Given the description of an element on the screen output the (x, y) to click on. 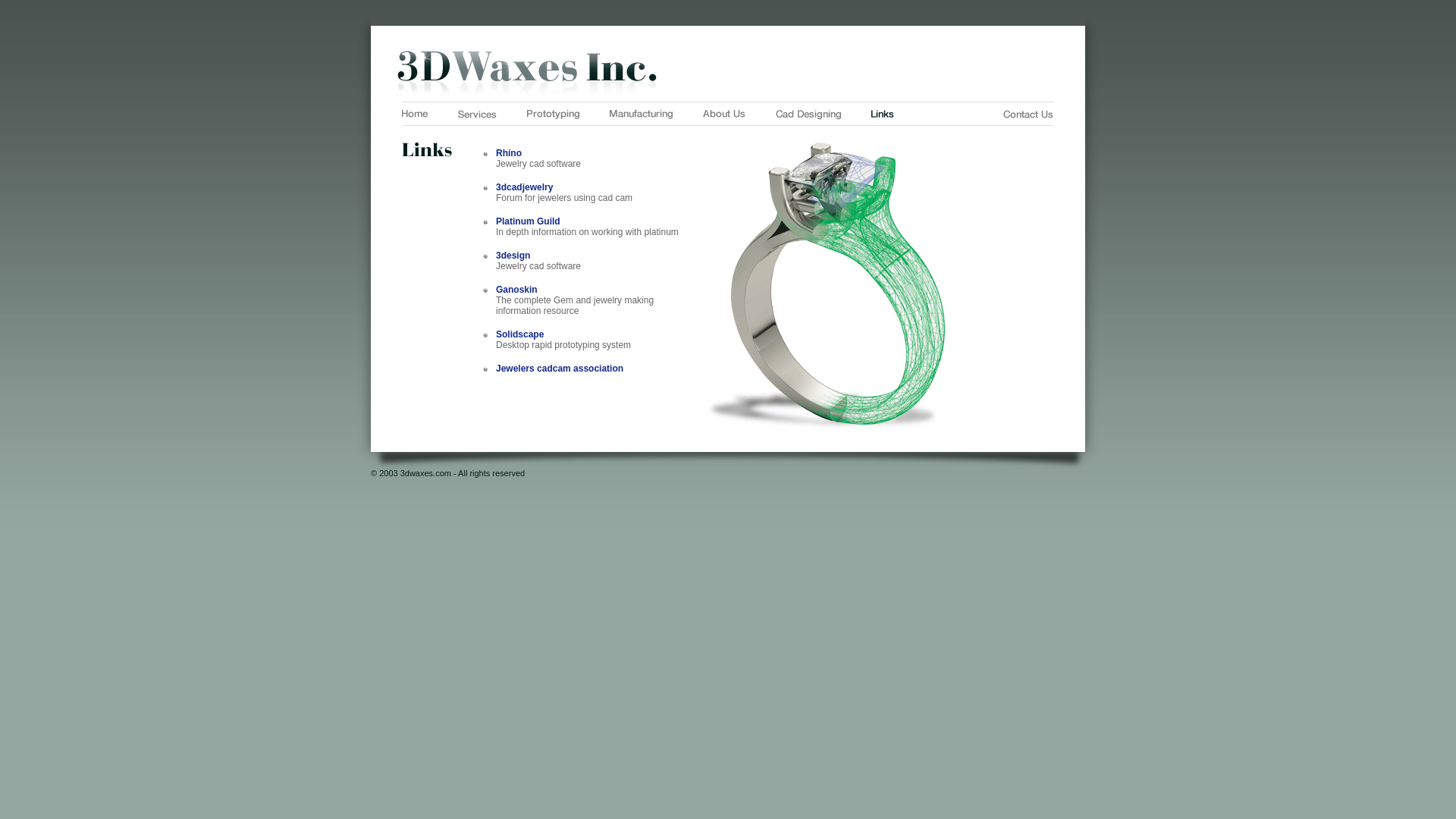
About Us Element type: hover (723, 113)
Home Element type: hover (414, 113)
Jewelers cadcam association Element type: text (559, 368)
Manufacturing Element type: hover (640, 114)
Rhino Element type: text (508, 152)
Contact Us Element type: hover (1028, 113)
Ganoskin Element type: text (516, 289)
3dcadjewelry Element type: text (523, 187)
3design Element type: text (512, 255)
Prototyping Element type: hover (553, 114)
Platinum Guild Element type: text (527, 221)
Solidscape Element type: text (519, 334)
Cad Designing Element type: hover (807, 114)
Services Element type: hover (477, 113)
3dwasex Element type: hover (727, 72)
